Given the description of an element on the screen output the (x, y) to click on. 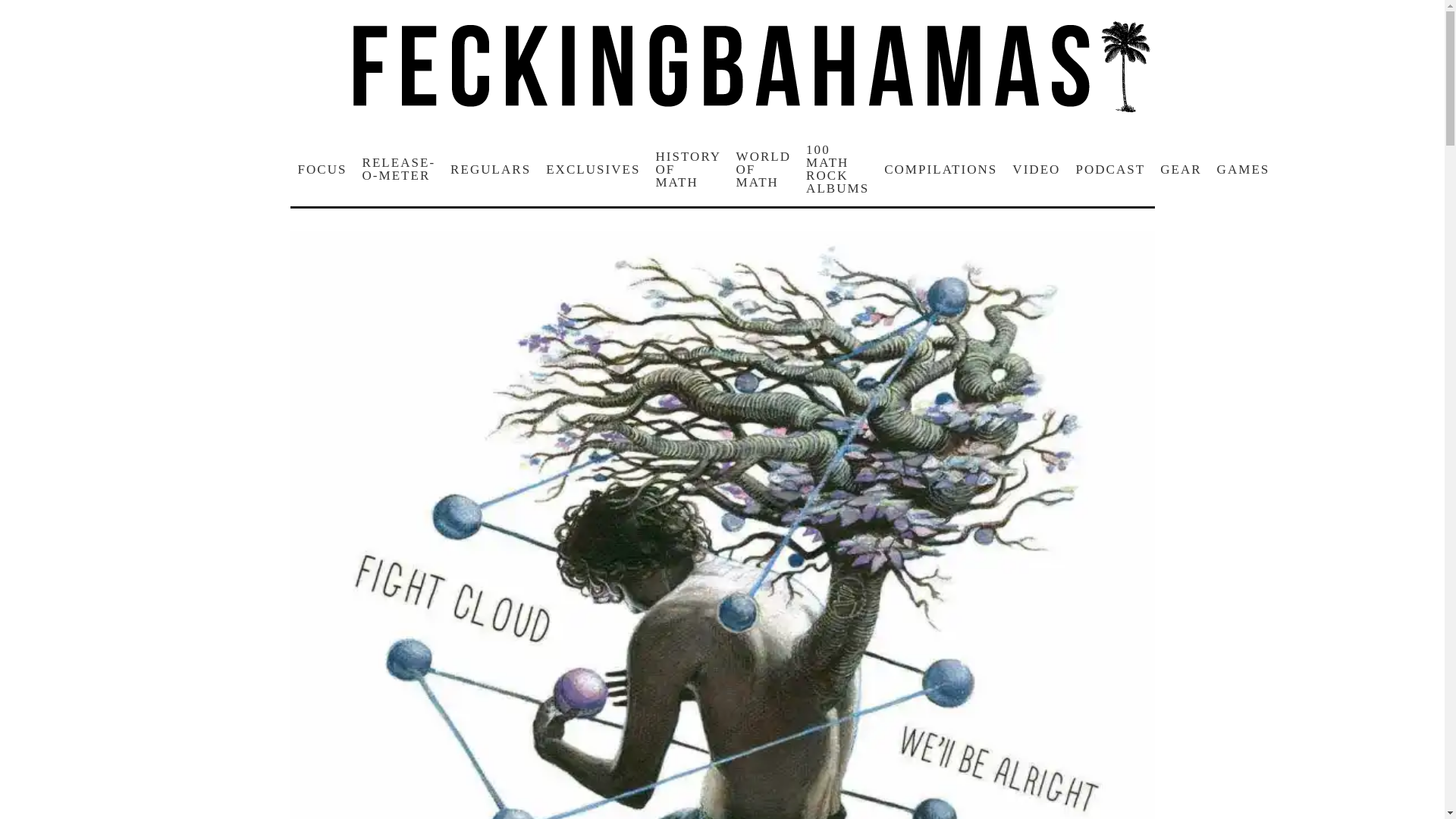
RELEASE-O-METER (399, 168)
FOCUS (321, 169)
REGULARS (490, 169)
EXCLUSIVES (592, 169)
